Given the description of an element on the screen output the (x, y) to click on. 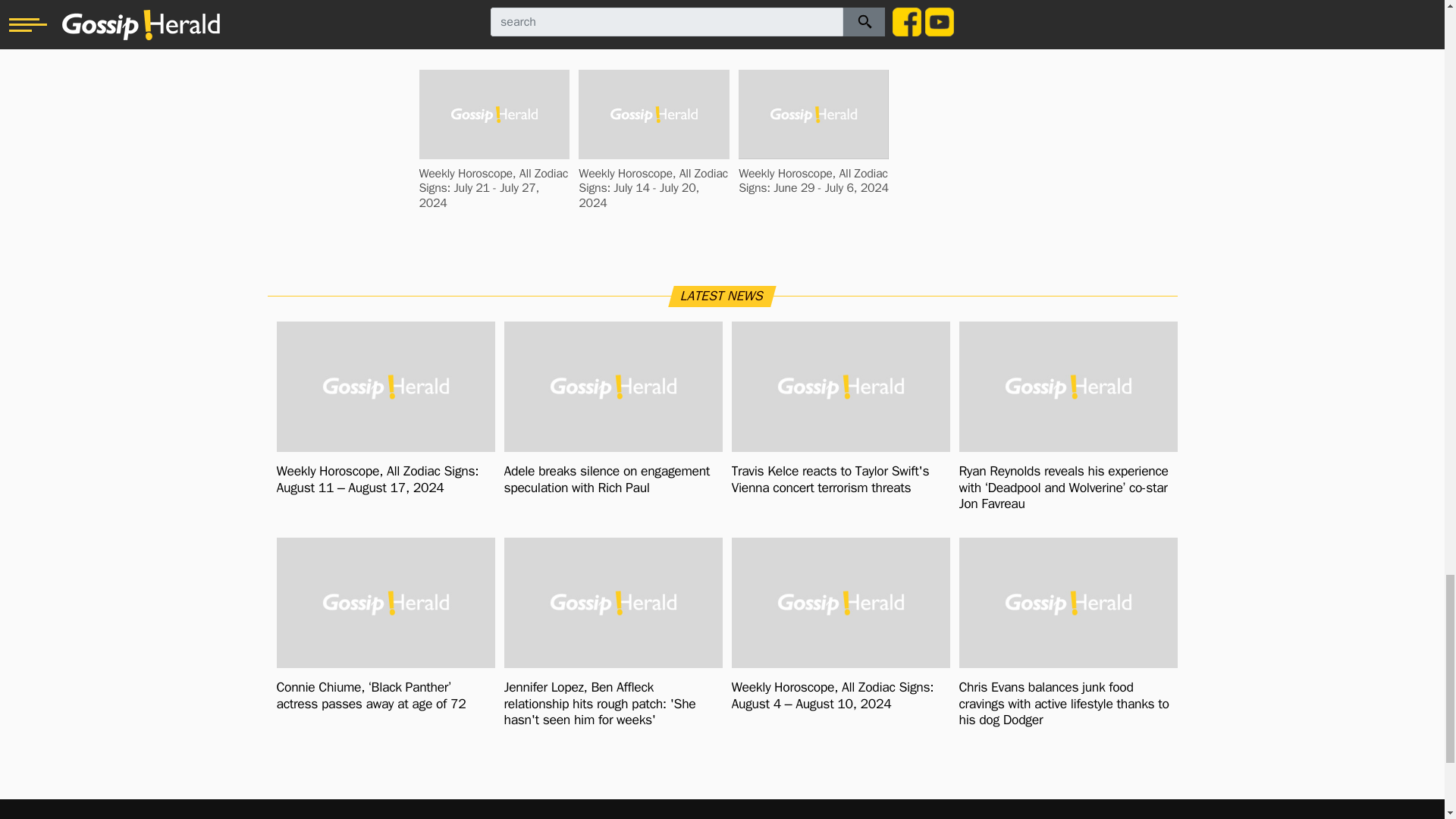
Weekly Horoscope, All Zodiac Signs: July 14 - July 20, 2024 (653, 188)
Weekly Horoscope, All Zodiac Signs: June 29 - July 6, 2024 (813, 181)
Weekly Horoscope, All Zodiac Signs: July 28 - August 3, 2024 (813, 20)
Weekly Horoscope, All Zodiac Signs: July 21 - July 27, 2024 (494, 188)
